Given the description of an element on the screen output the (x, y) to click on. 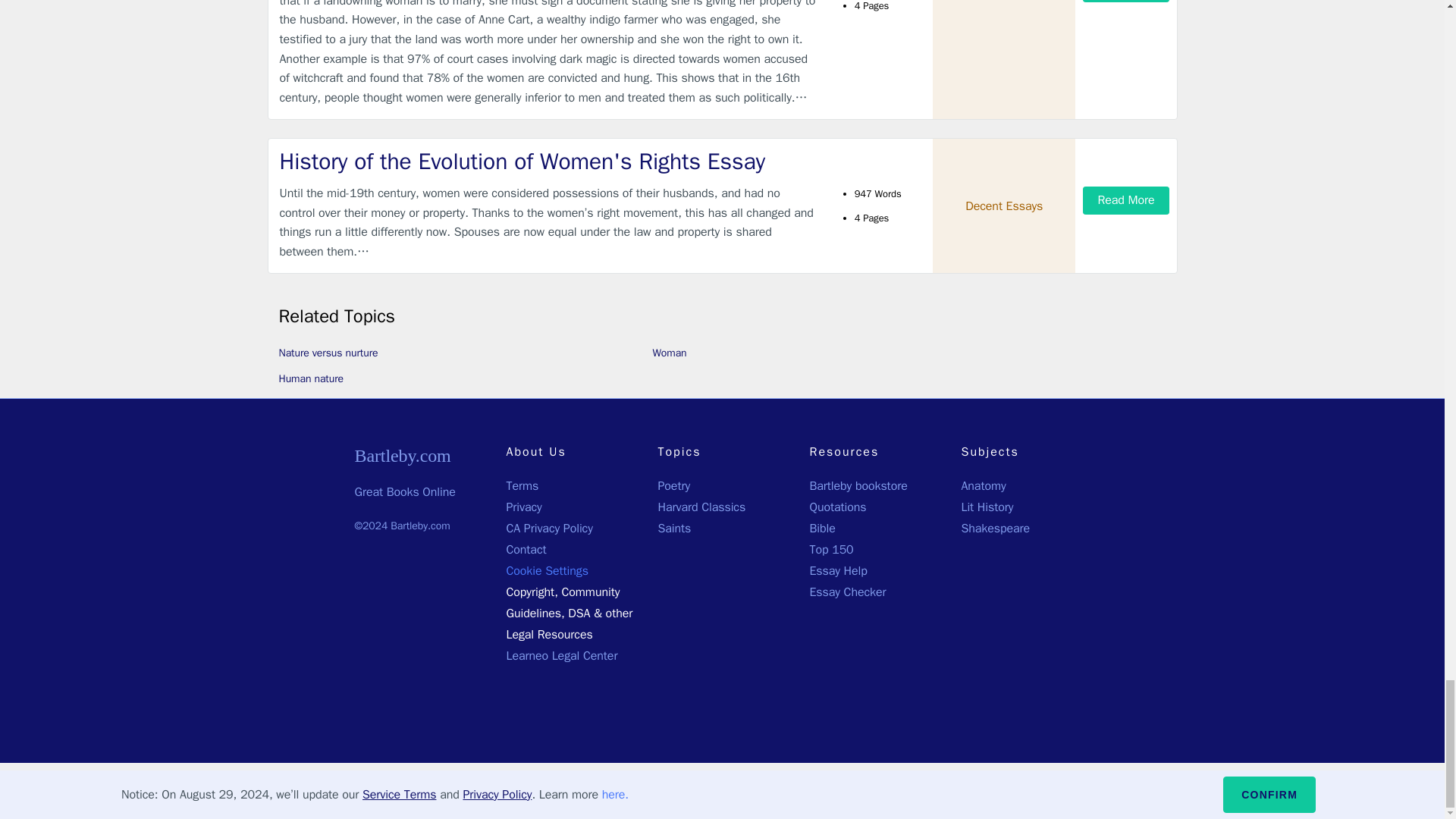
Nature versus nurture (328, 352)
Woman (668, 352)
Human nature (311, 378)
